Given the description of an element on the screen output the (x, y) to click on. 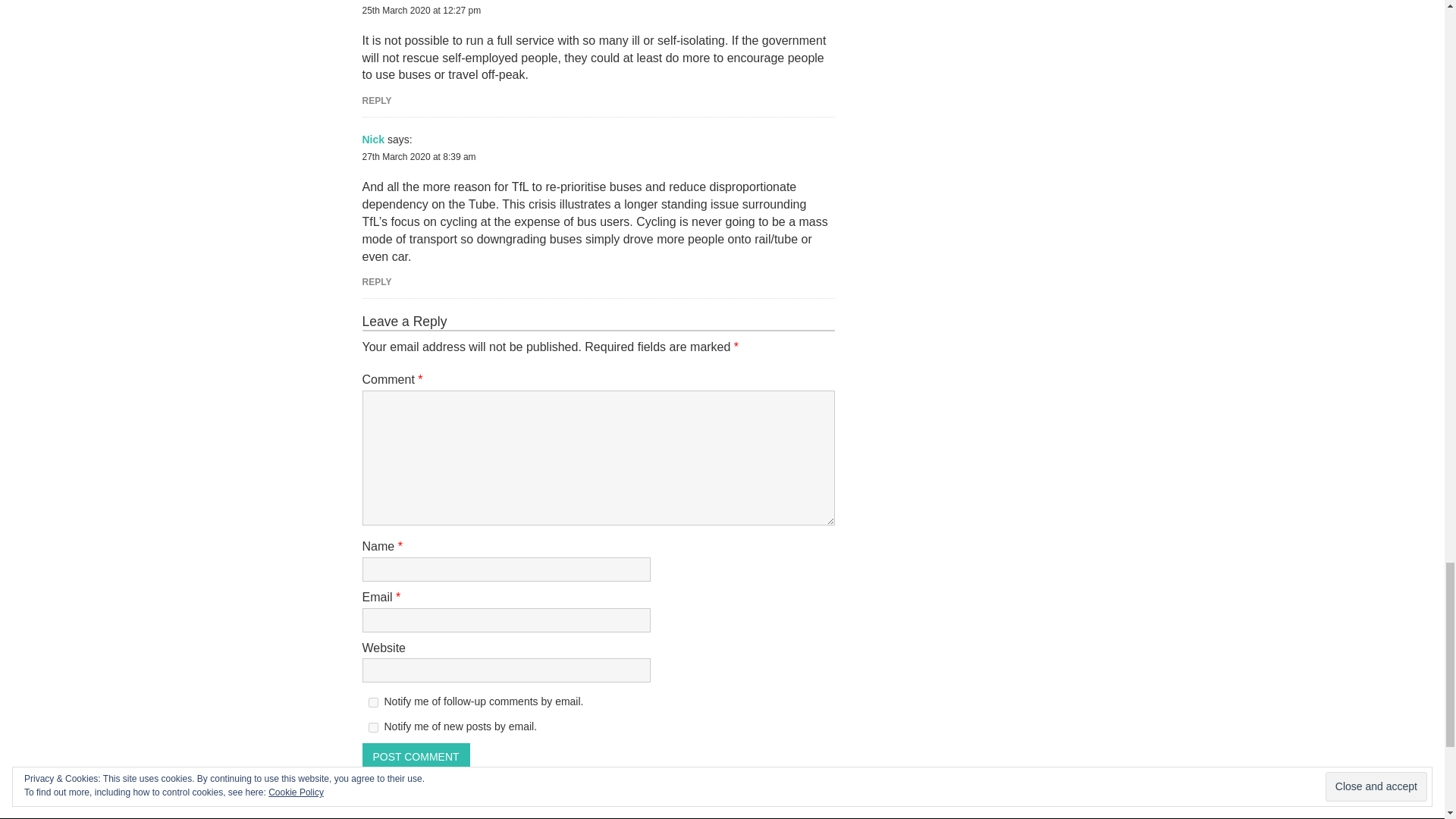
Post Comment (416, 755)
subscribe (373, 702)
subscribe (373, 727)
